Given the description of an element on the screen output the (x, y) to click on. 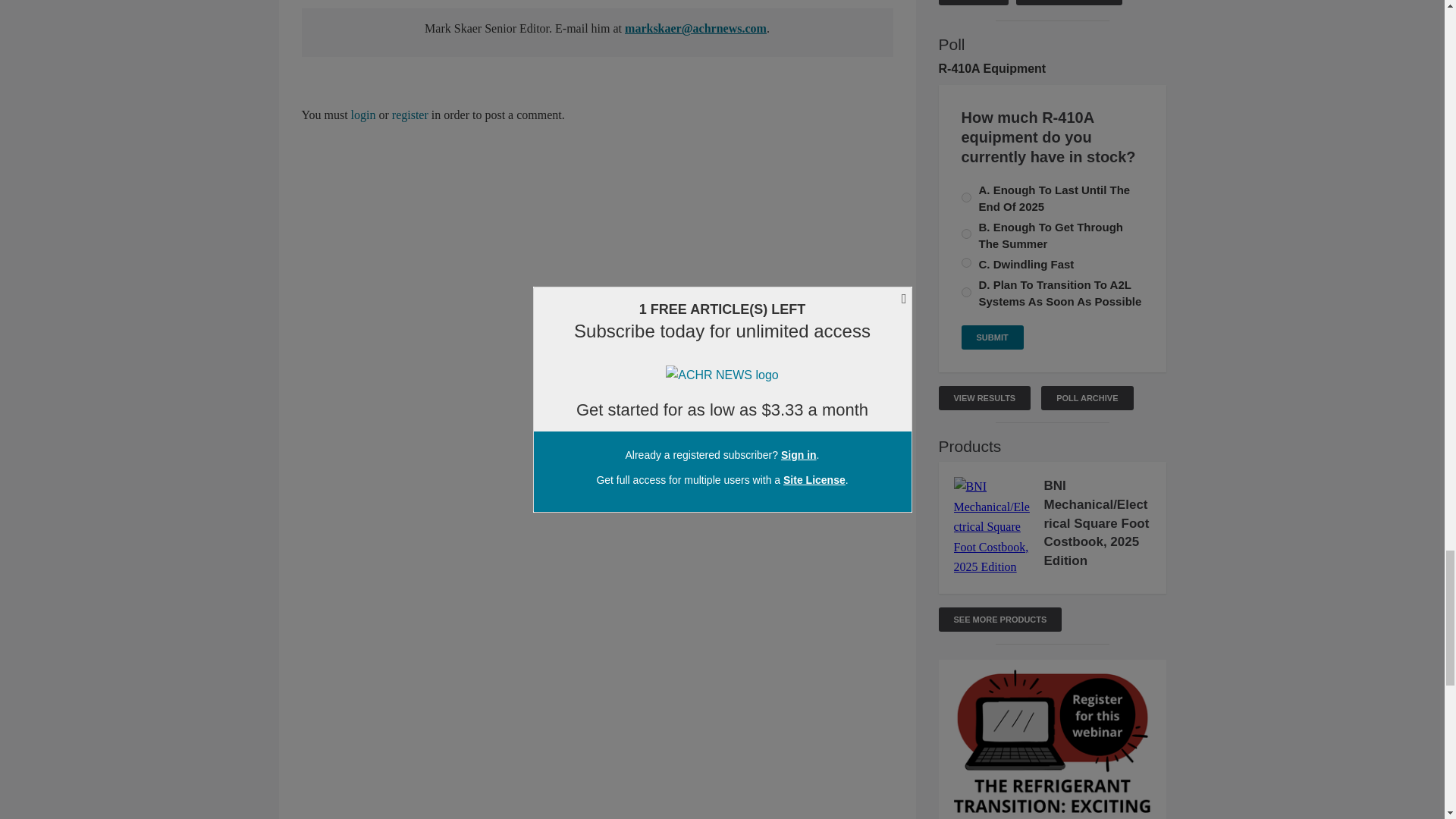
596 (965, 234)
598 (965, 262)
597 (965, 197)
Submit (991, 337)
599 (965, 292)
